Given the description of an element on the screen output the (x, y) to click on. 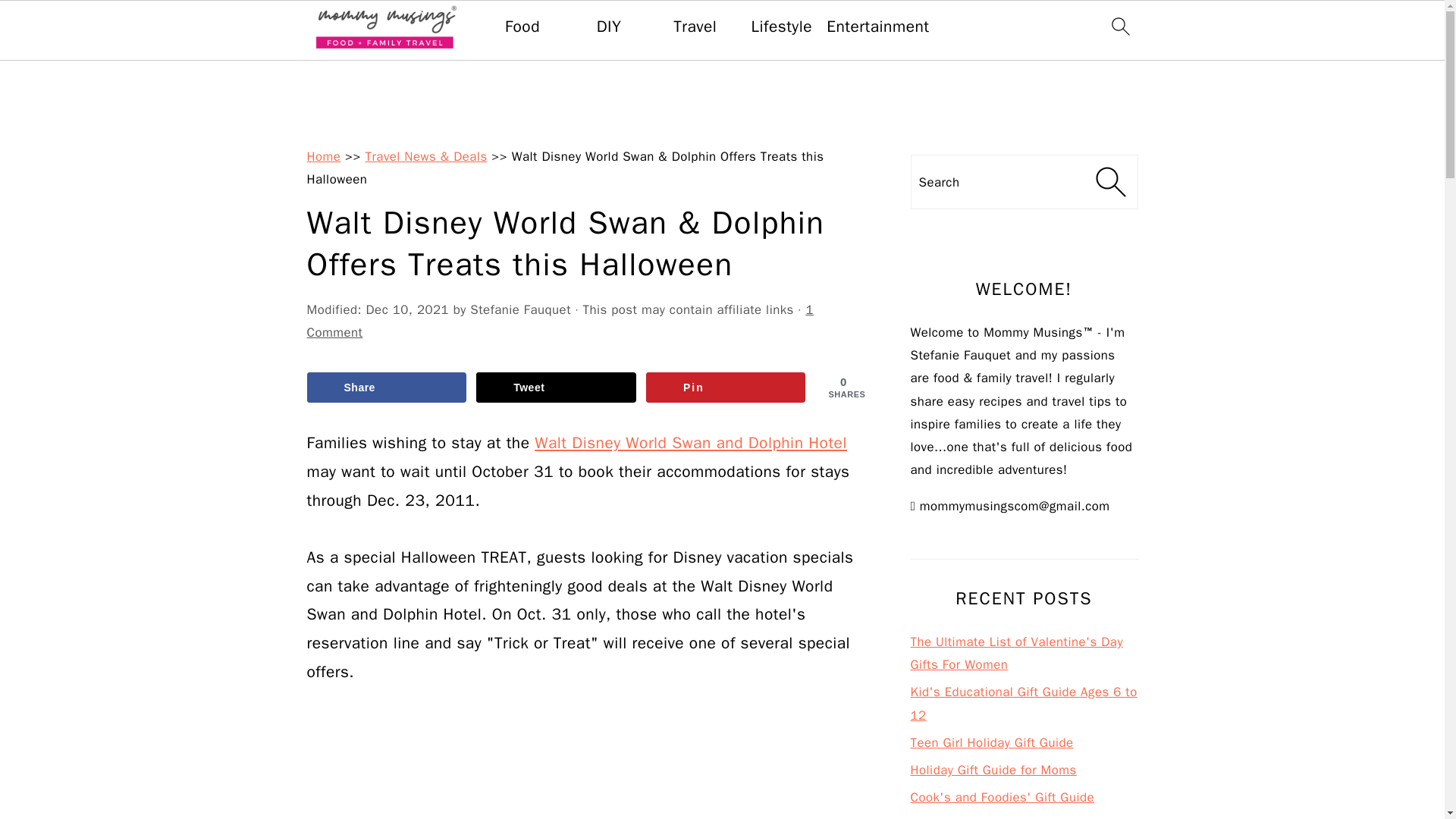
Save to Pinterest (726, 387)
search icon (1119, 26)
Share on X (556, 387)
Share on Facebook (385, 387)
